Given the description of an element on the screen output the (x, y) to click on. 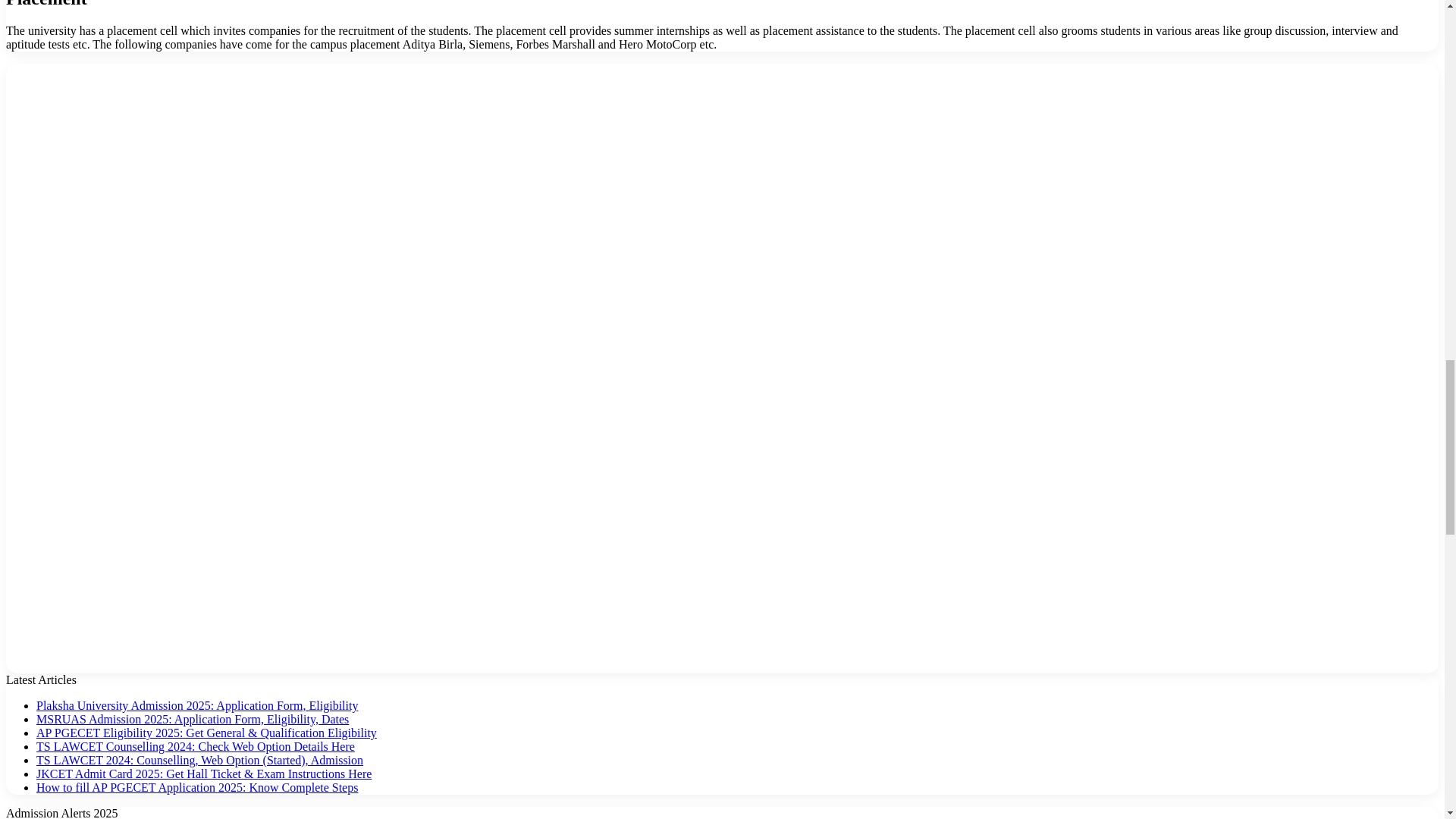
MSRUAS Admission 2025: Application Form, Eligibility, Dates (192, 718)
How to fill AP PGECET Application 2025: Know Complete Steps (197, 787)
TS LAWCET Counselling 2024: Check Web Option Details Here (195, 746)
